Given the description of an element on the screen output the (x, y) to click on. 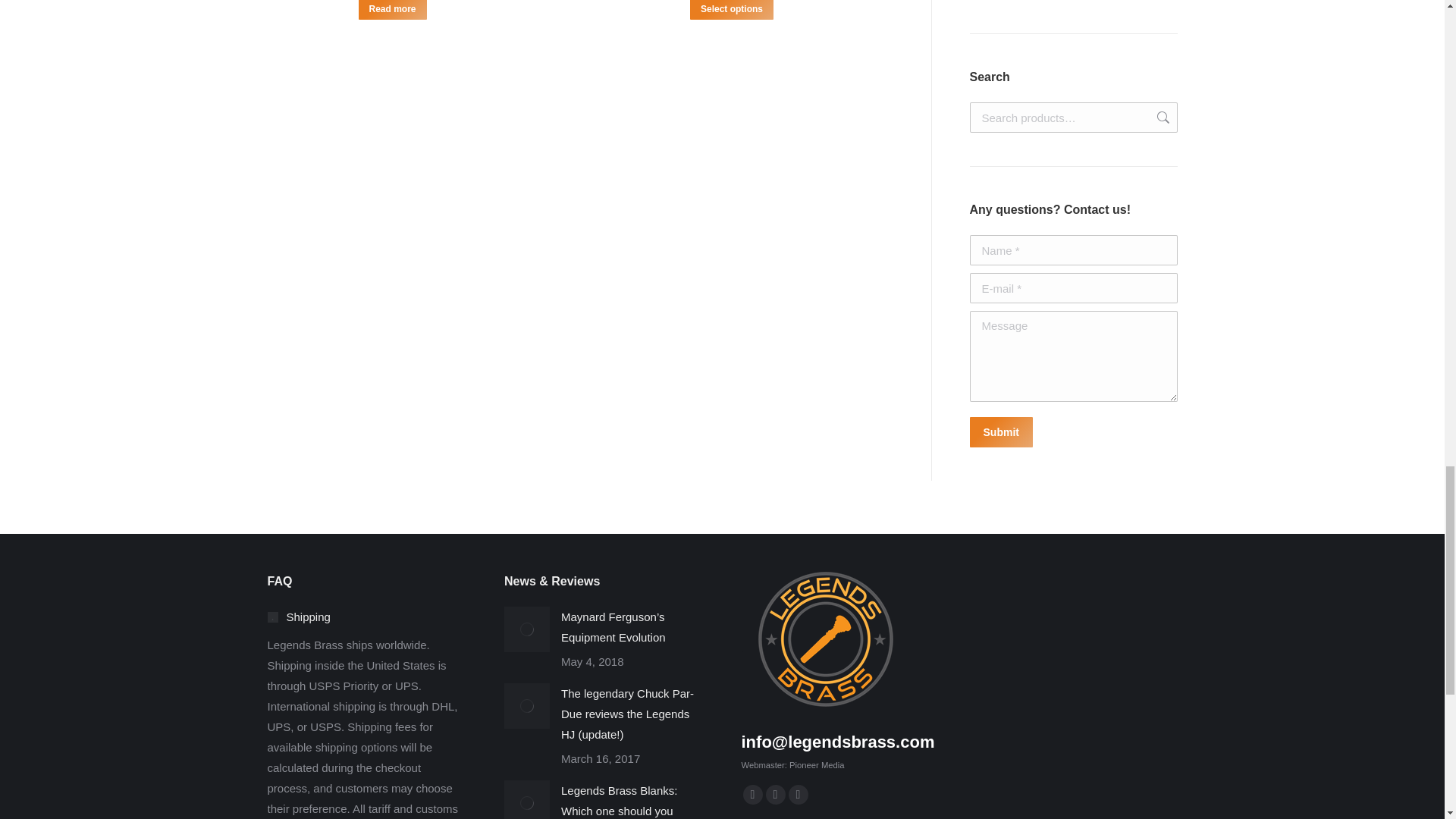
submit (1073, 433)
